Given the description of an element on the screen output the (x, y) to click on. 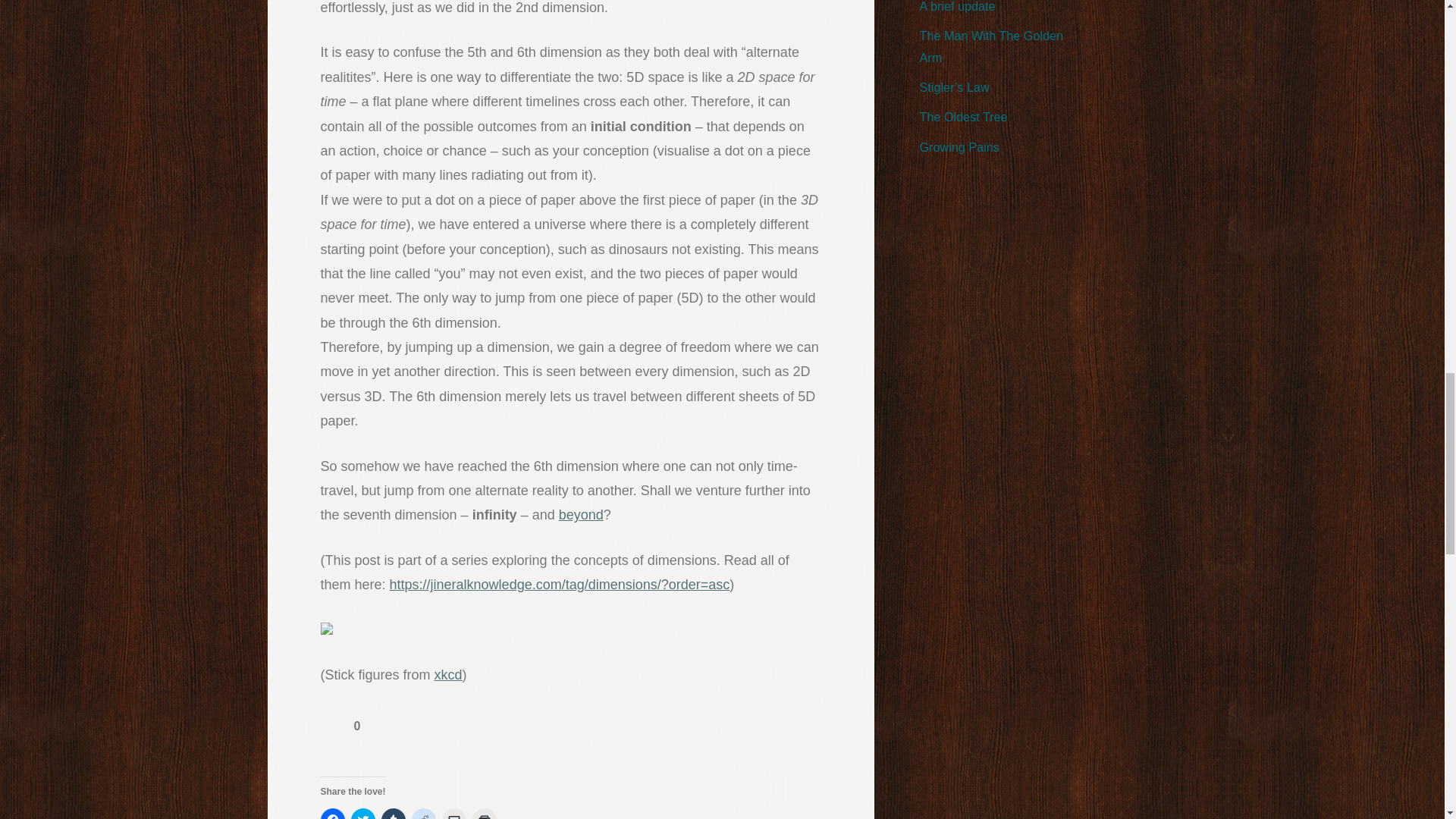
xkcd (448, 674)
Click to share on Tumblr (392, 813)
Click to share on Twitter (362, 813)
Click to email a link to a friend (453, 813)
beyond (581, 514)
Click to share on Facebook (331, 813)
Click to share on Reddit (422, 813)
Click to print (483, 813)
